Given the description of an element on the screen output the (x, y) to click on. 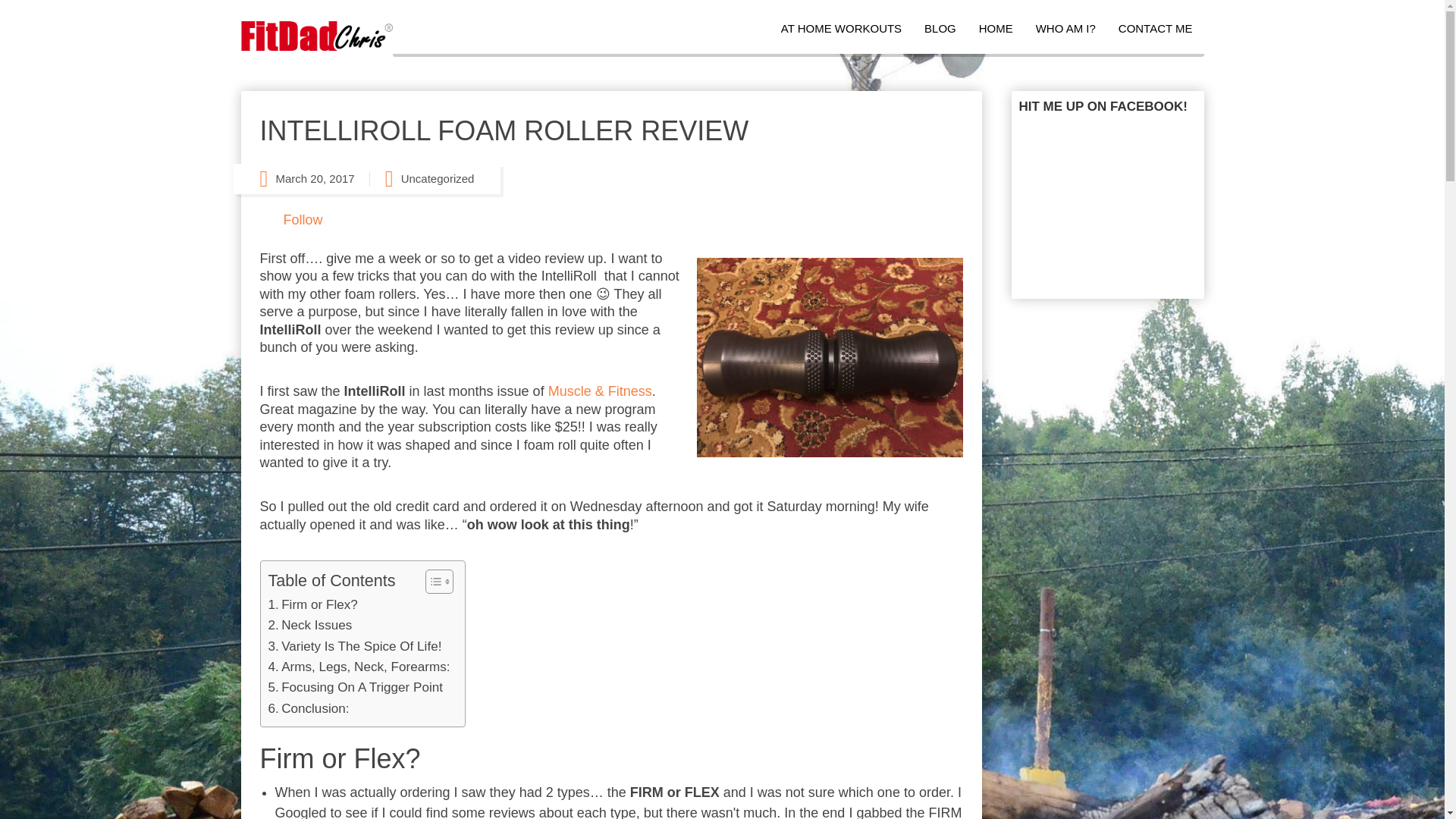
HOME (995, 28)
Neck Issues (309, 625)
Firm or Flex? (312, 604)
Arms, Legs, Neck, Forearms: (358, 666)
Conclusion: (308, 708)
Neck Issues (309, 625)
Arms, Legs, Neck, Forearms: (358, 666)
Focusing On A Trigger Point (355, 687)
CONTACT ME (1155, 28)
AT HOME WORKOUTS (840, 28)
Variety Is The Spice Of Life! (354, 646)
WHO AM I? (1065, 28)
Focusing On A Trigger Point (355, 687)
Variety Is The Spice Of Life! (354, 646)
Conclusion: (308, 708)
